Given the description of an element on the screen output the (x, y) to click on. 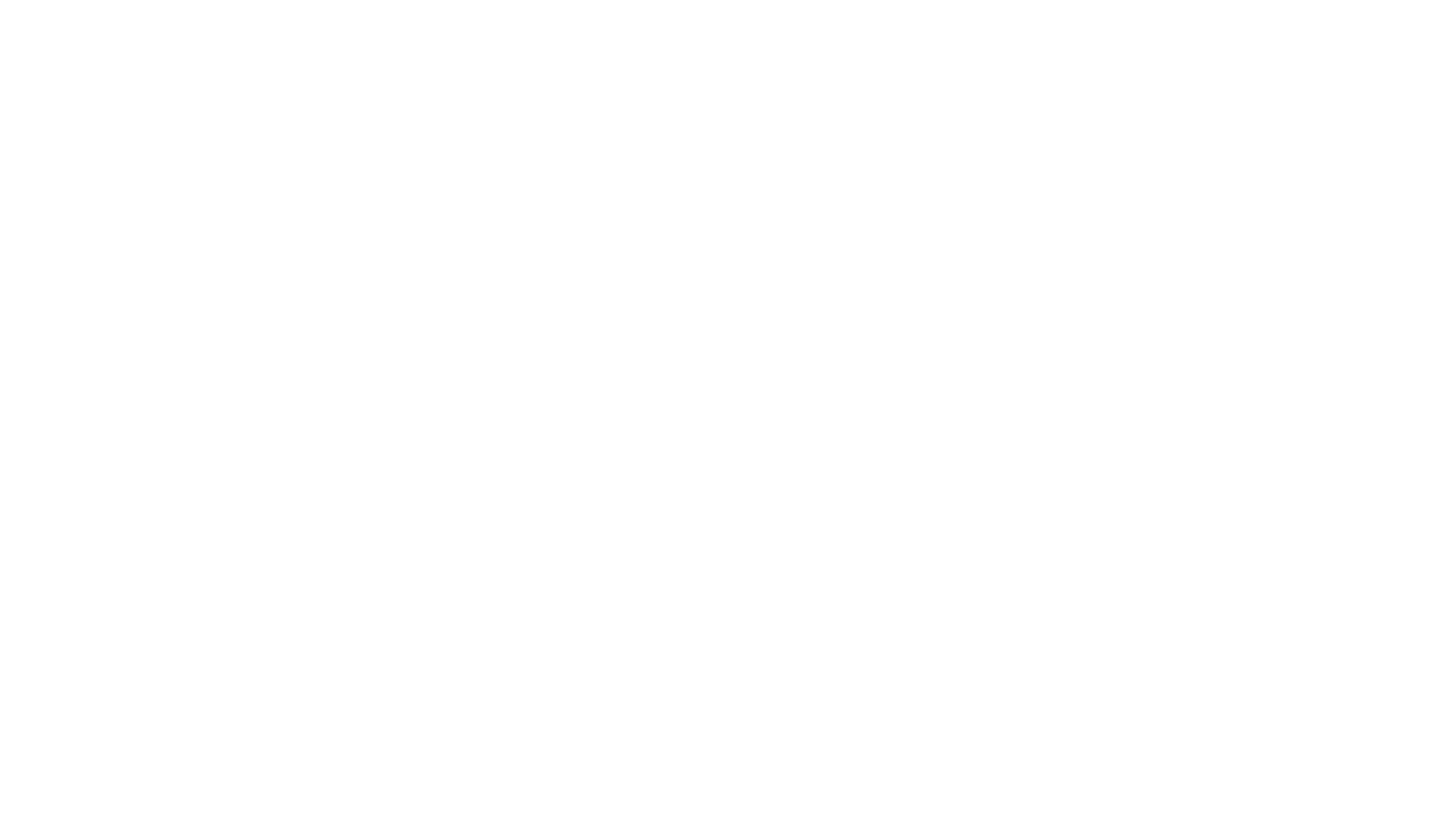
hier klikken Element type: text (820, 288)
BESTELLEN Element type: text (1111, 89)
Fotoboeken Element type: text (434, 169)
FR Element type: text (1097, 49)
PRODUKTEN Element type: text (613, 130)
WIE ZIJN WE? Element type: text (731, 581)
PROFESSIONEEL Element type: text (787, 130)
ALGEMENE VERKOOPSVOORWAARDEN Element type: text (893, 581)
OVERZICHT VAN DE WEBSITE Element type: text (910, 588)
Produkten Element type: text (367, 169)
NL Element type: text (1133, 49)
LEVERING Element type: text (694, 130)
www.befoto.be Element type: text (391, 620)
IK HEB HET BEGREPEN Element type: text (1093, 18)
www.bephoto.fr Element type: text (473, 620)
Mijn bestellingen Element type: text (1077, 164)
CONTACT Element type: text (878, 130)
